Given the description of an element on the screen output the (x, y) to click on. 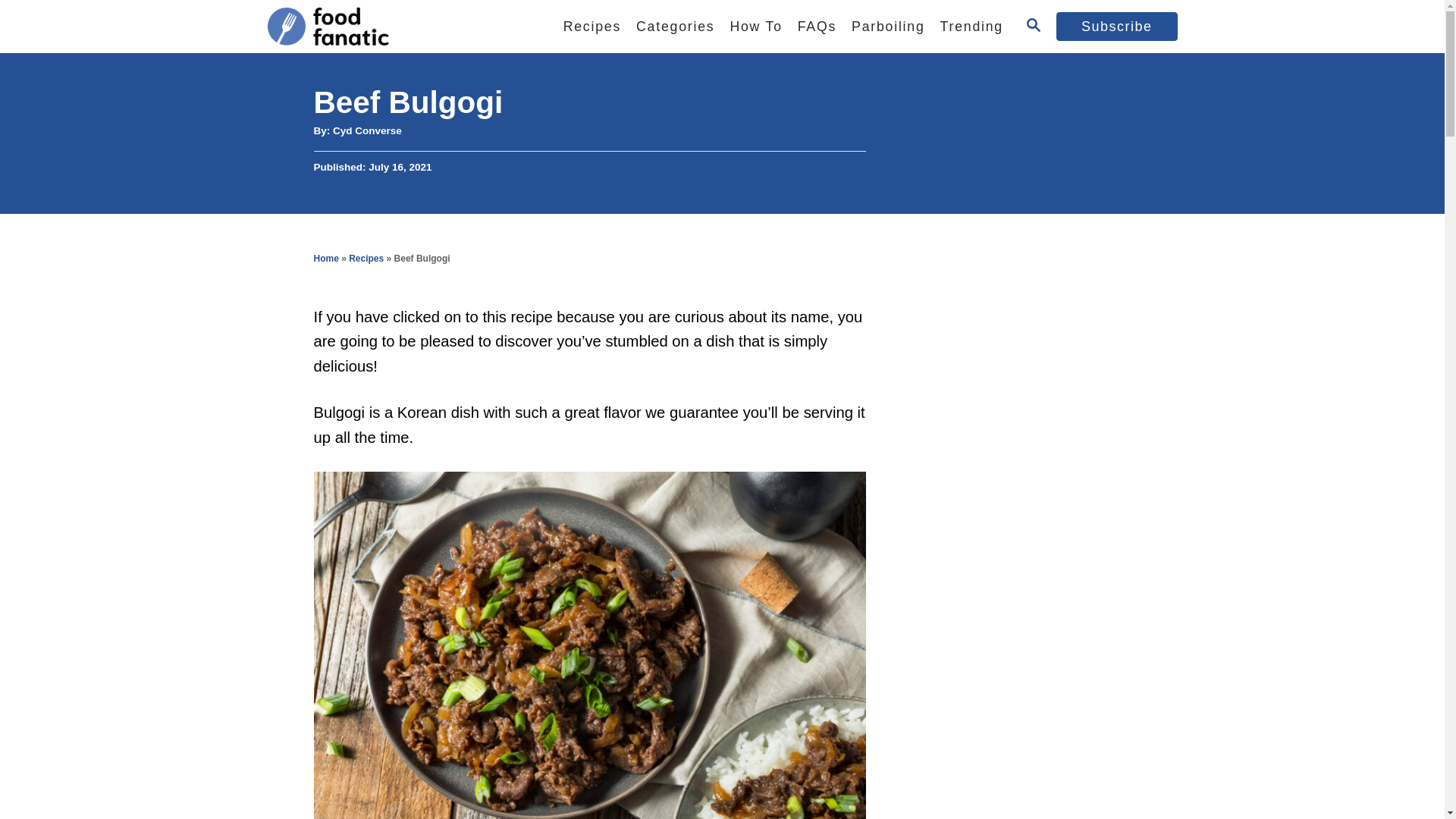
SEARCH (1033, 26)
FAQs (817, 26)
Recipes (592, 26)
Categories (675, 26)
How To (755, 26)
Food Fanatic (395, 26)
